Given the description of an element on the screen output the (x, y) to click on. 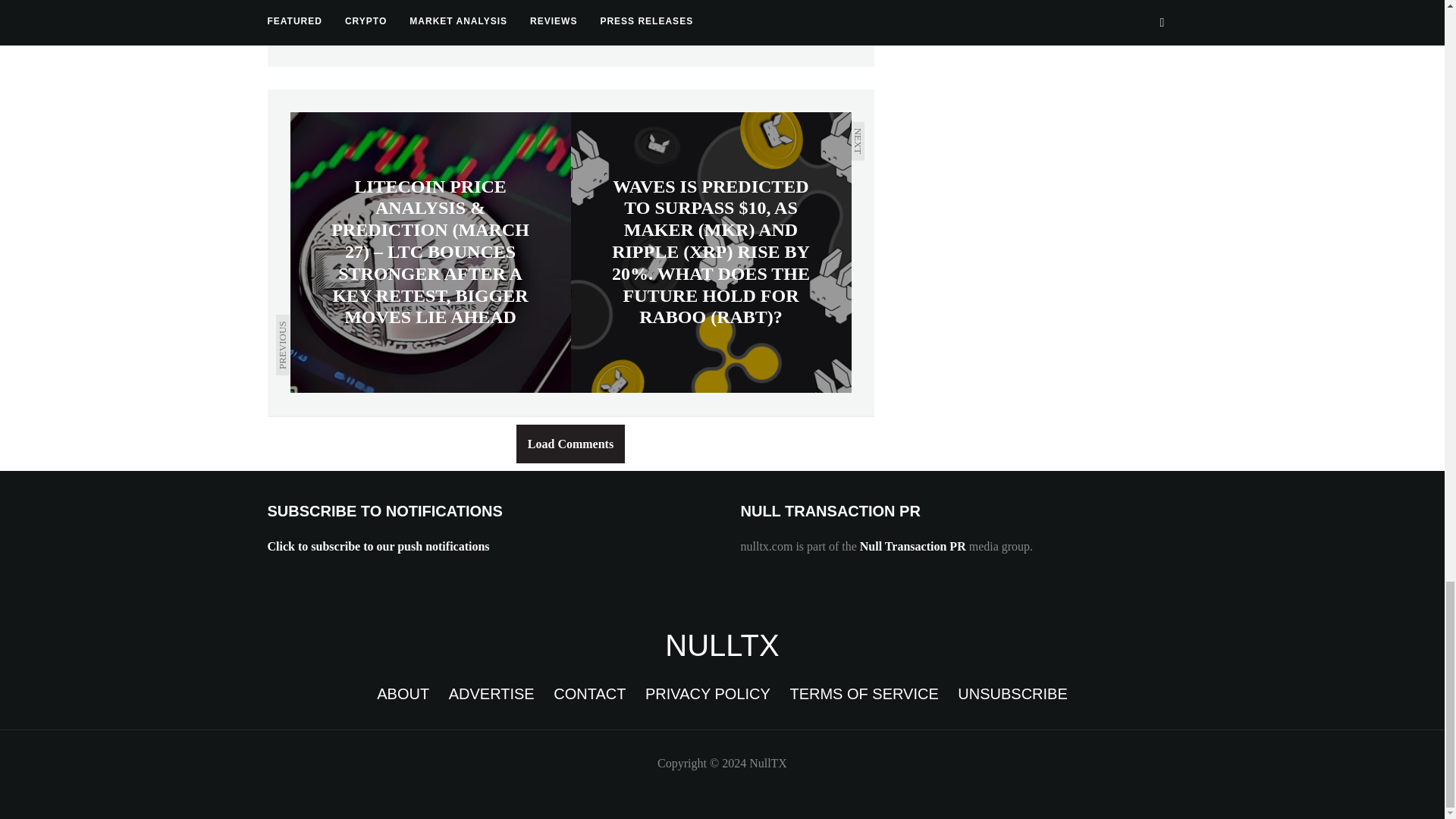
Click to subscribe to our push notifications (377, 545)
Load Comments (570, 444)
NULLTX (721, 644)
TERMS OF SERVICE (863, 693)
ADVERTISE (491, 693)
CONTACT (589, 693)
Cryptocurrency News (721, 644)
ABOUT (403, 693)
PRIVACY POLICY (707, 693)
Null Transaction PR (913, 545)
